Given the description of an element on the screen output the (x, y) to click on. 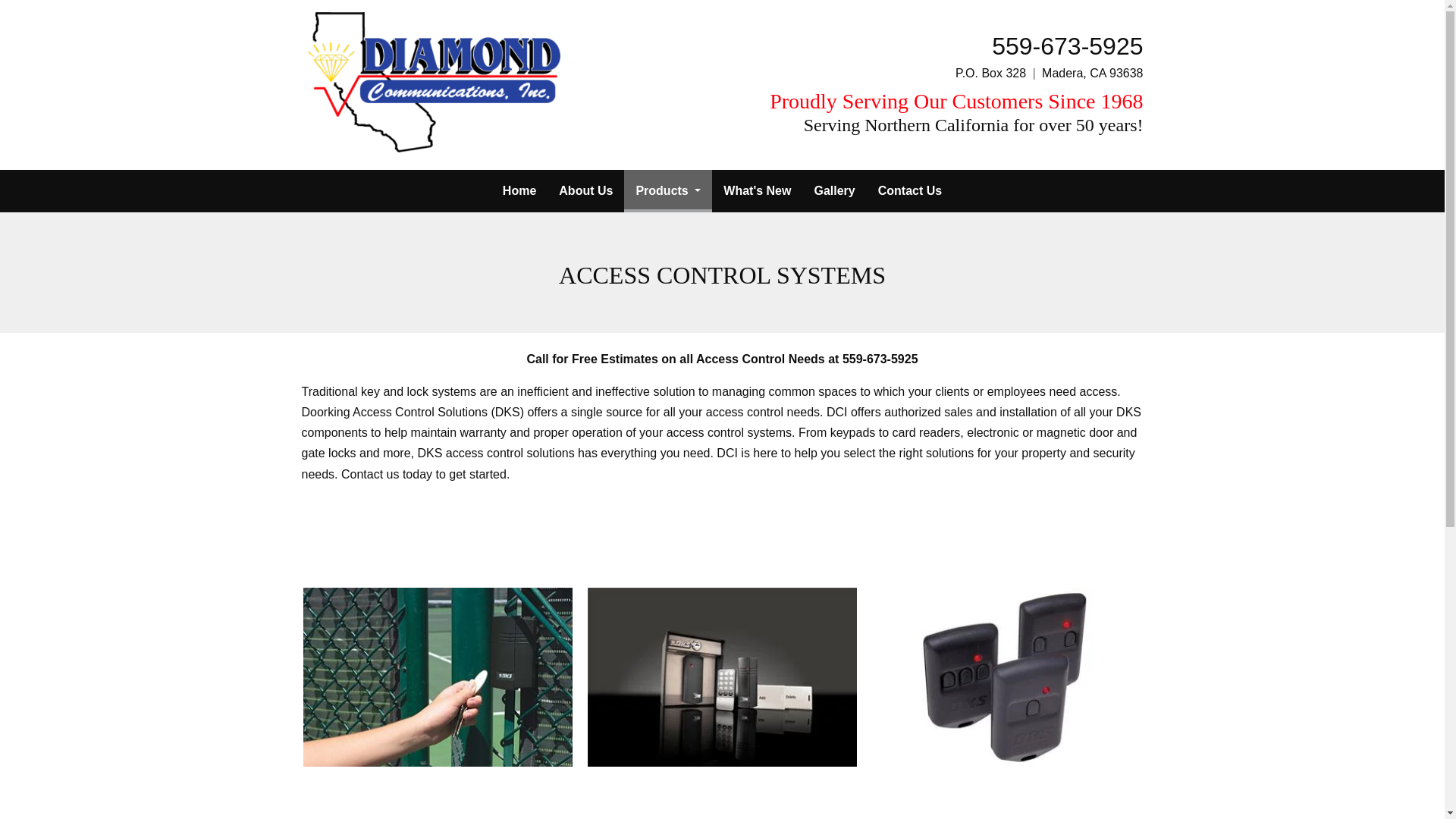
Gallery (834, 190)
About Us (585, 190)
Home (519, 190)
Contact Us (909, 190)
Products (667, 190)
559-673-5925 (1066, 45)
What's New (756, 190)
